Given the description of an element on the screen output the (x, y) to click on. 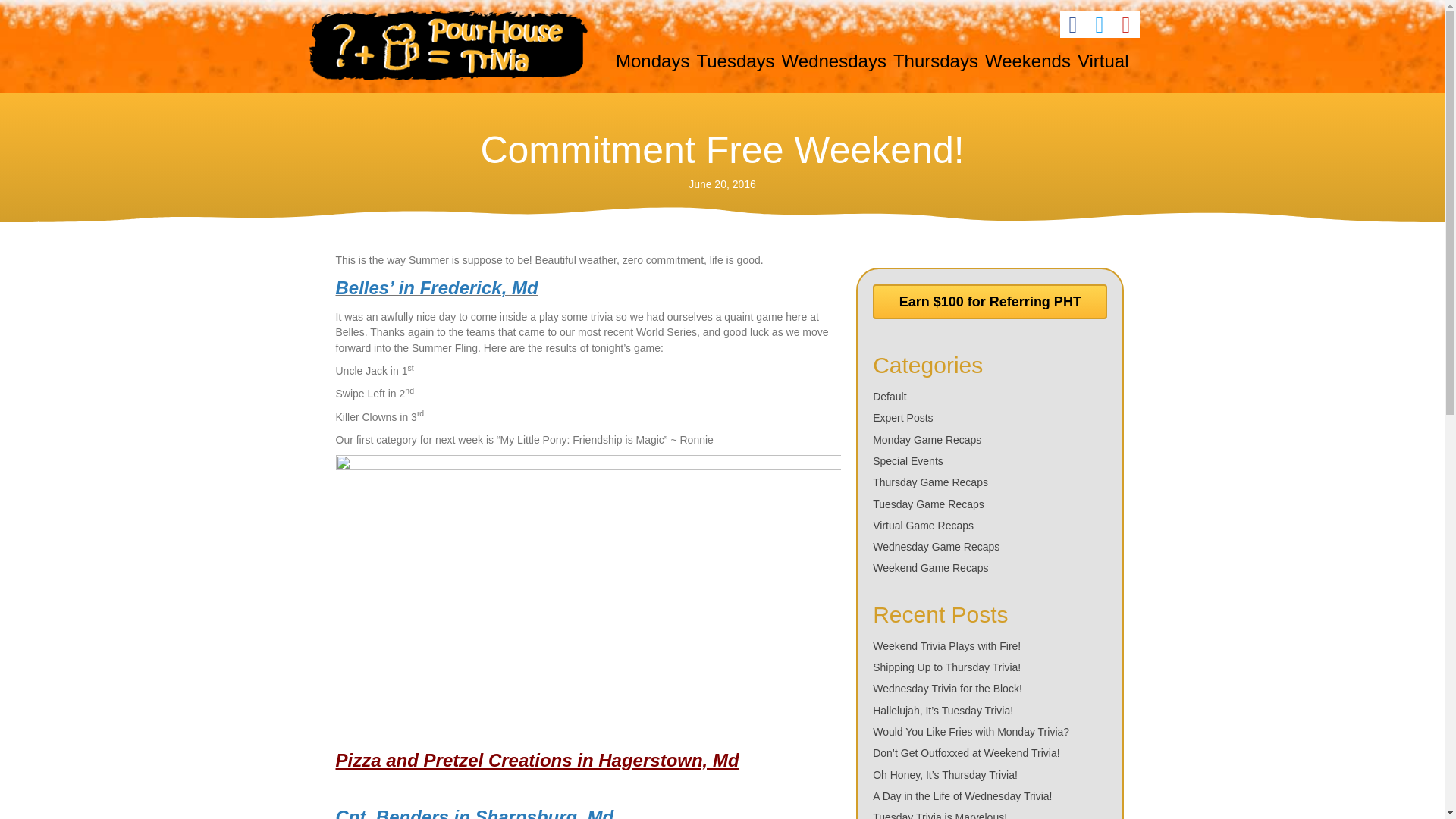
Tuesdays (735, 61)
Wednesday Game Recaps (935, 546)
Tuesday Game Recaps (928, 503)
Thursday Game Recaps (930, 481)
Virtual (1103, 61)
Weekend Trivia Plays with Fire! (946, 645)
PourHouse Trivia on Facebook (1072, 24)
PHT Logo (446, 45)
Monday Game Recaps (926, 439)
Weekends (1027, 61)
